Given the description of an element on the screen output the (x, y) to click on. 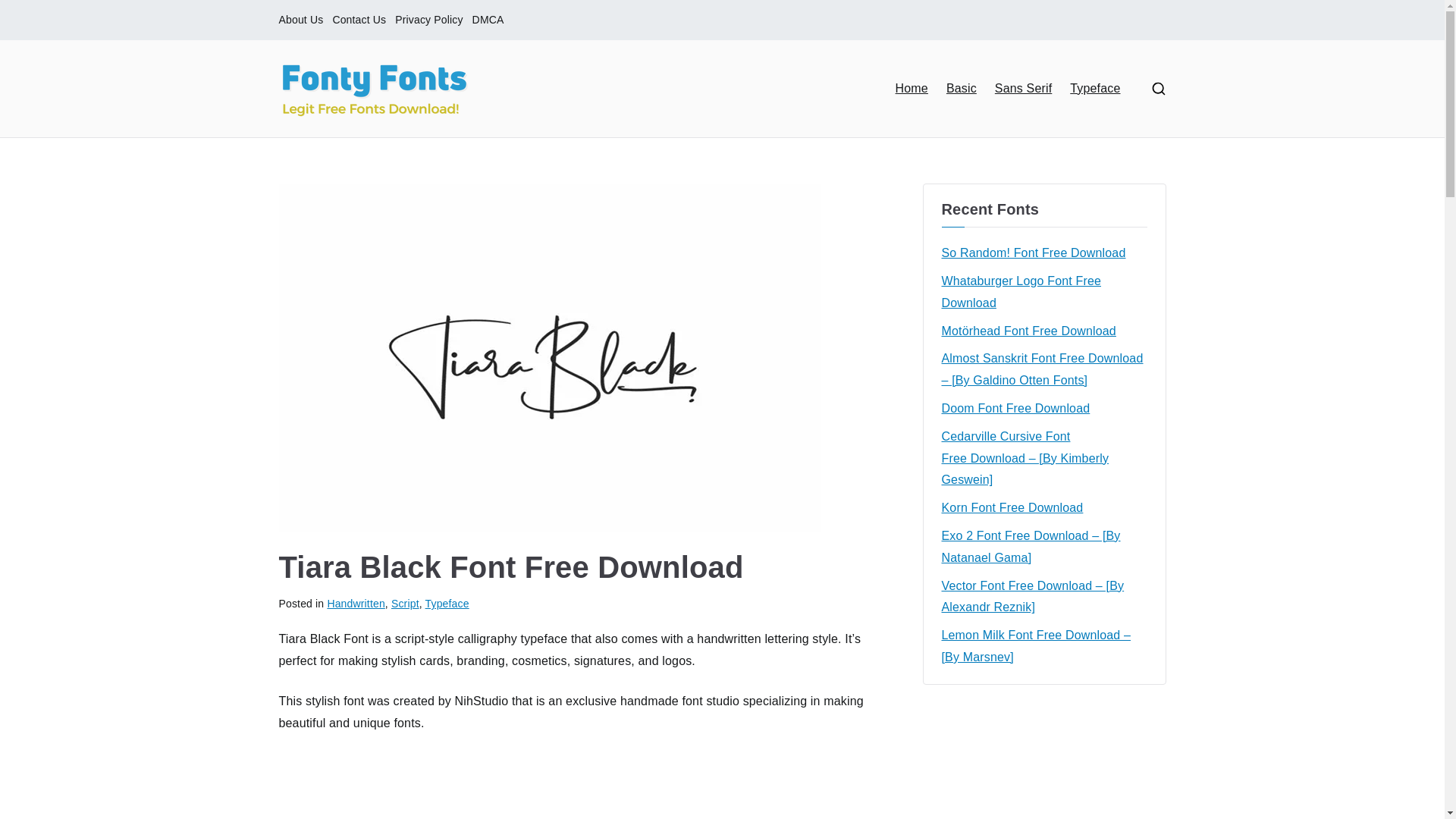
Whataburger Logo Font Free Download (1044, 292)
Home (911, 88)
Typeface (1094, 88)
Search (26, 12)
So Random! Font Free Download (1033, 253)
Typeface (446, 603)
Advertisement (577, 785)
About Us (301, 19)
Basic (961, 88)
Privacy Policy (428, 19)
Sans Serif (1022, 88)
DMCA (487, 19)
Handwritten (355, 603)
Script (405, 603)
Contact Us (358, 19)
